Given the description of an element on the screen output the (x, y) to click on. 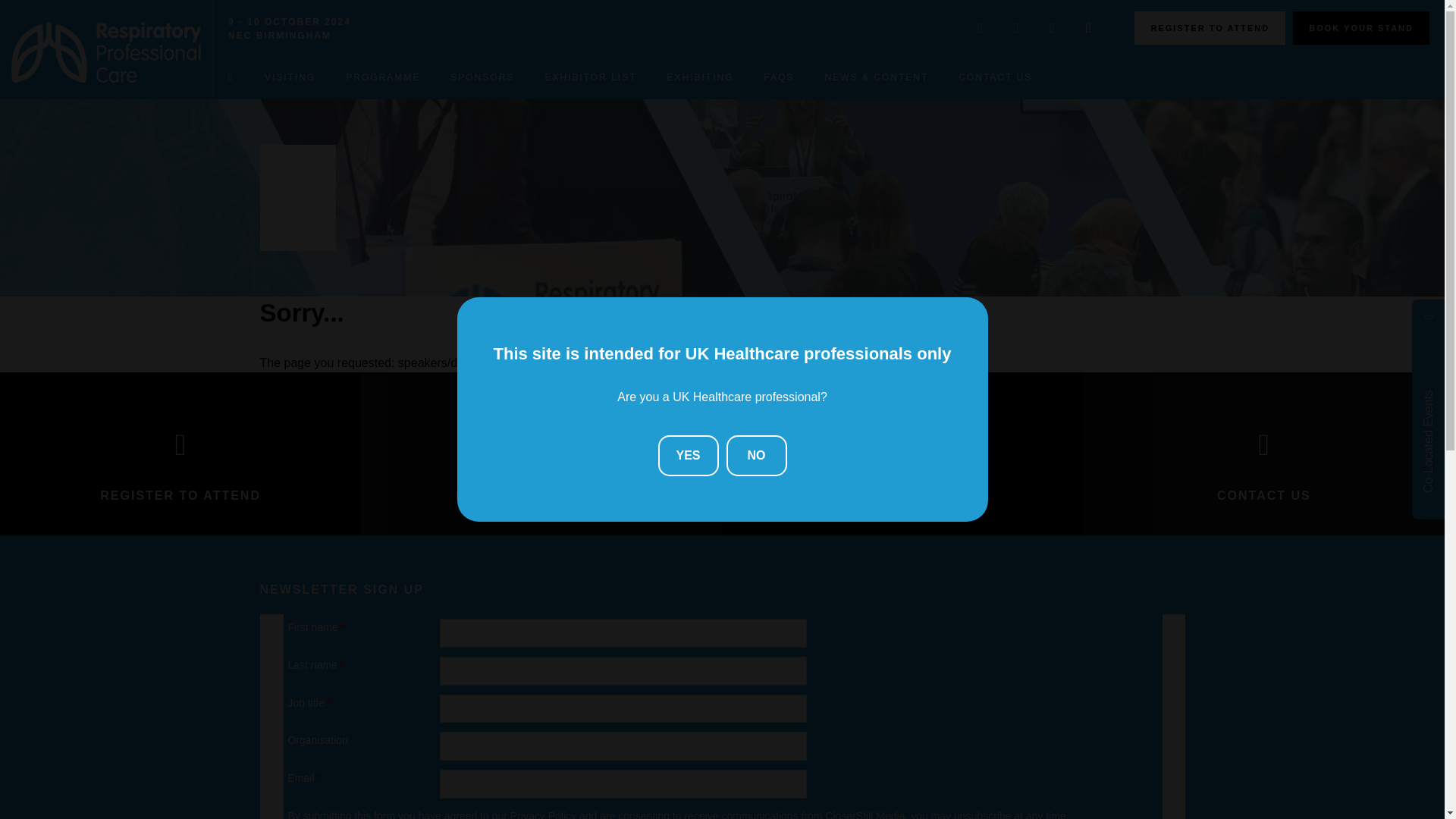
Search (1087, 29)
Twitter (979, 29)
LinkedIn (1051, 29)
REGISTER TO ATTEND (1209, 28)
YES (688, 454)
BOOK YOUR STAND (1360, 28)
Facebook (1016, 29)
NO (756, 454)
